Given the description of an element on the screen output the (x, y) to click on. 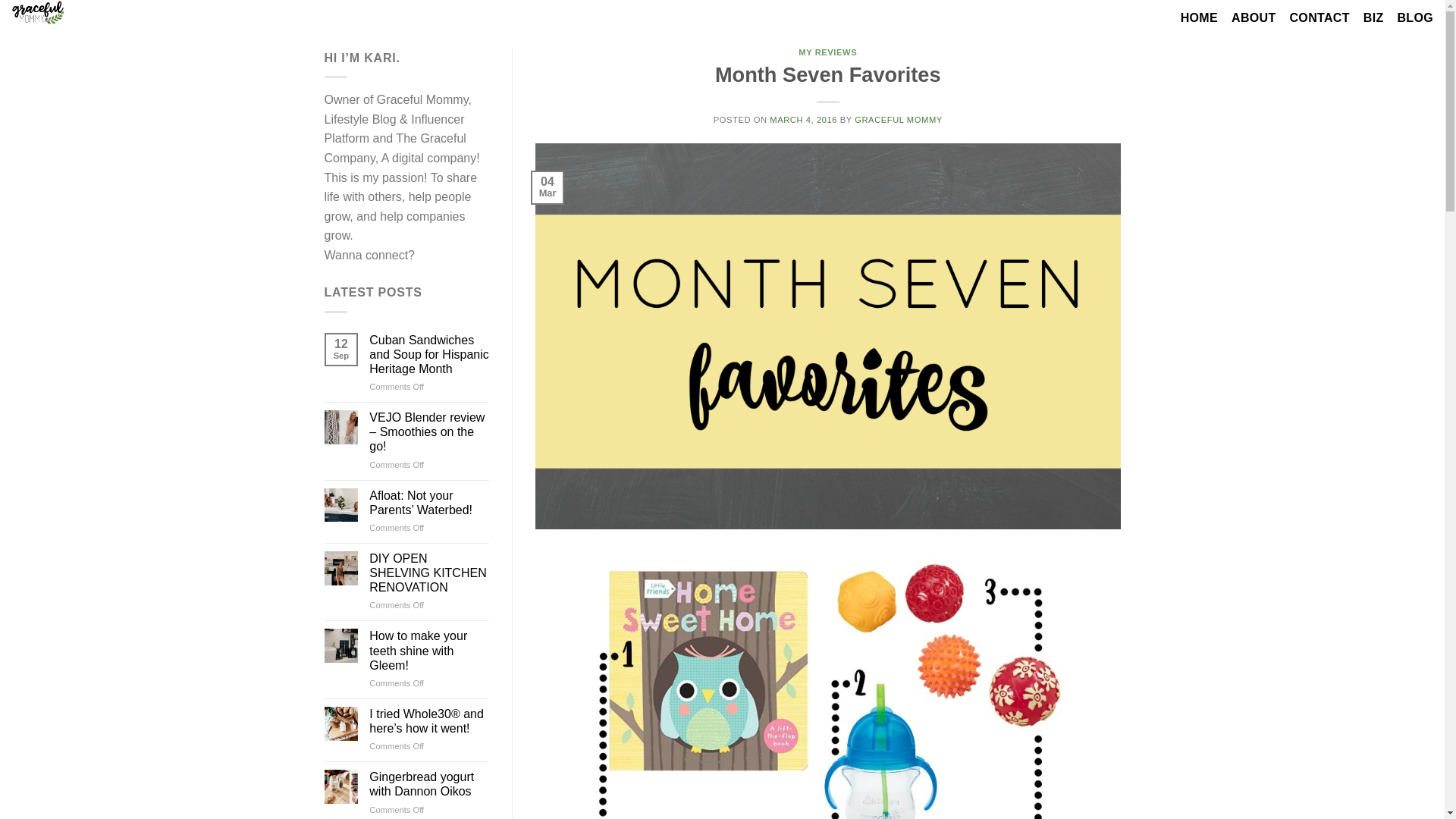
DIY OPEN SHELVING KITCHEN RENOVATION (429, 573)
Cuban Sandwiches and Soup for Hispanic Heritage Month (429, 354)
BLOG (1414, 18)
ABOUT (1253, 18)
DIY OPEN SHELVING KITCHEN RENOVATION (429, 573)
HOME (1198, 18)
How to make your teeth shine with Gleem! (429, 650)
CONTACT (1318, 18)
Graceful Mommy (46, 12)
Gingerbread yogurt with Dannon Oikos (429, 783)
